Given the description of an element on the screen output the (x, y) to click on. 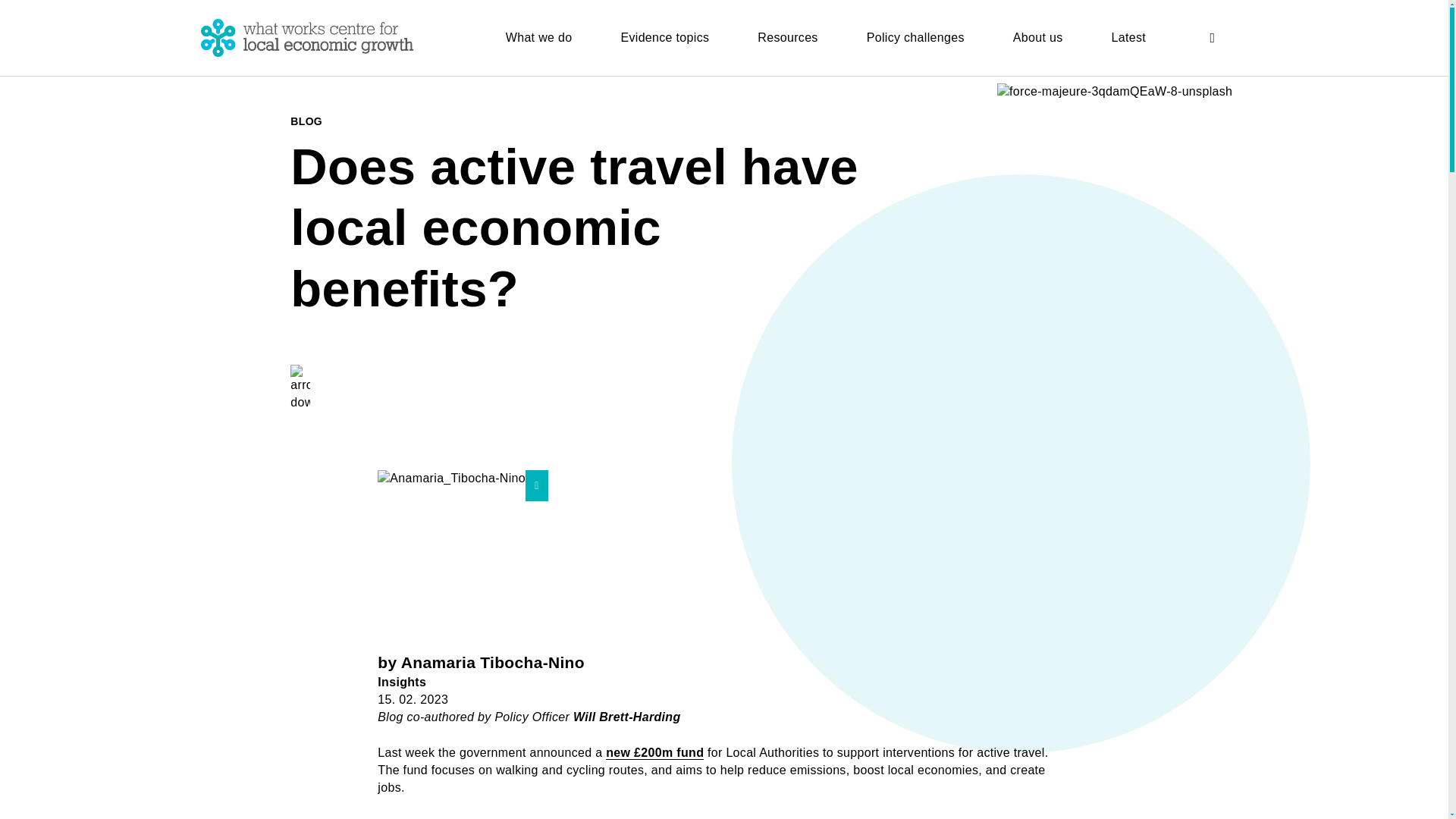
What we do (538, 37)
About us (1037, 37)
Evidence topics (664, 37)
Policy challenges (914, 37)
Resources (786, 37)
